Given the description of an element on the screen output the (x, y) to click on. 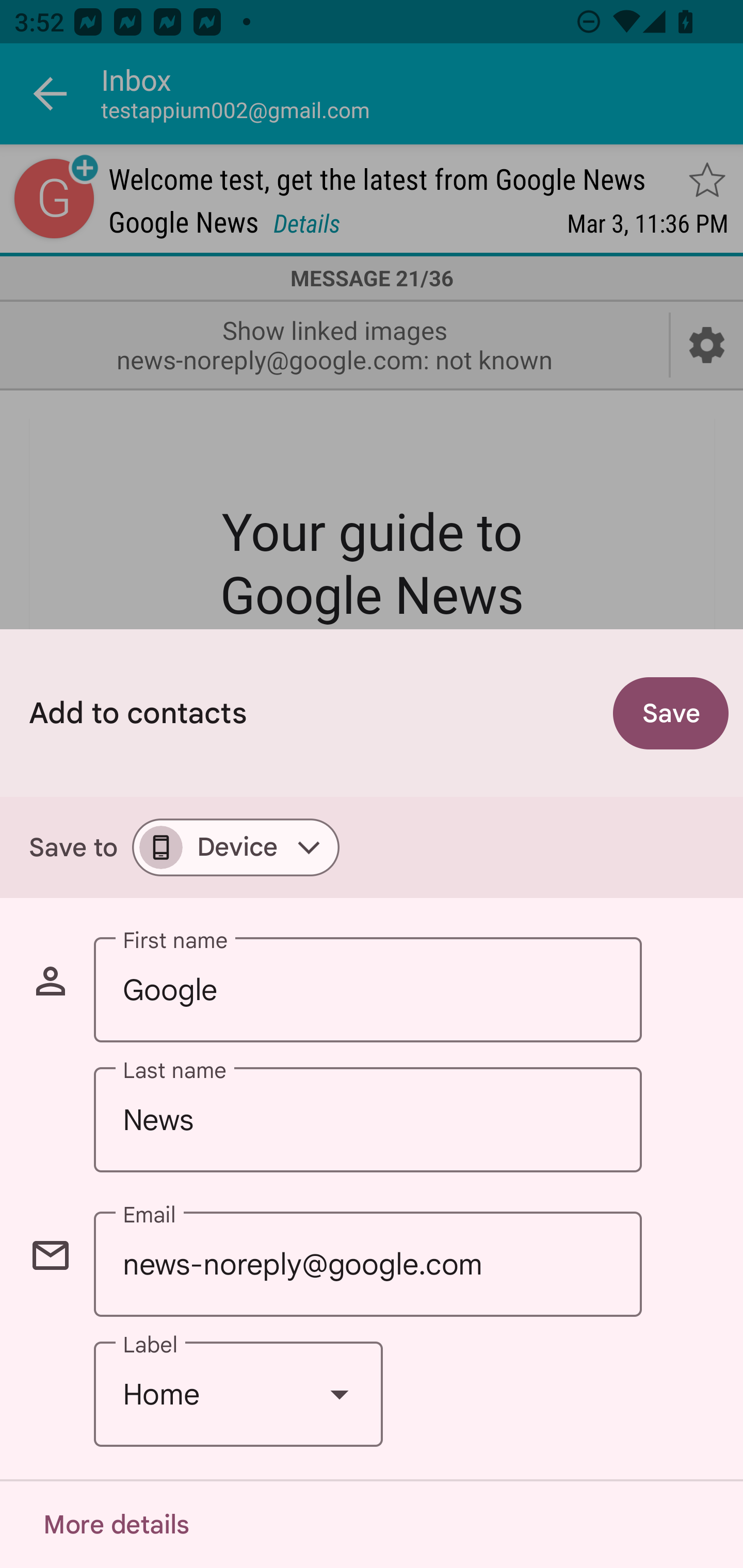
Save (670, 713)
Google (367, 989)
News (367, 1119)
news-noreply@google.com (367, 1264)
Home Home Email (237, 1394)
Show dropdown menu (339, 1394)
More details (116, 1524)
